Given the description of an element on the screen output the (x, y) to click on. 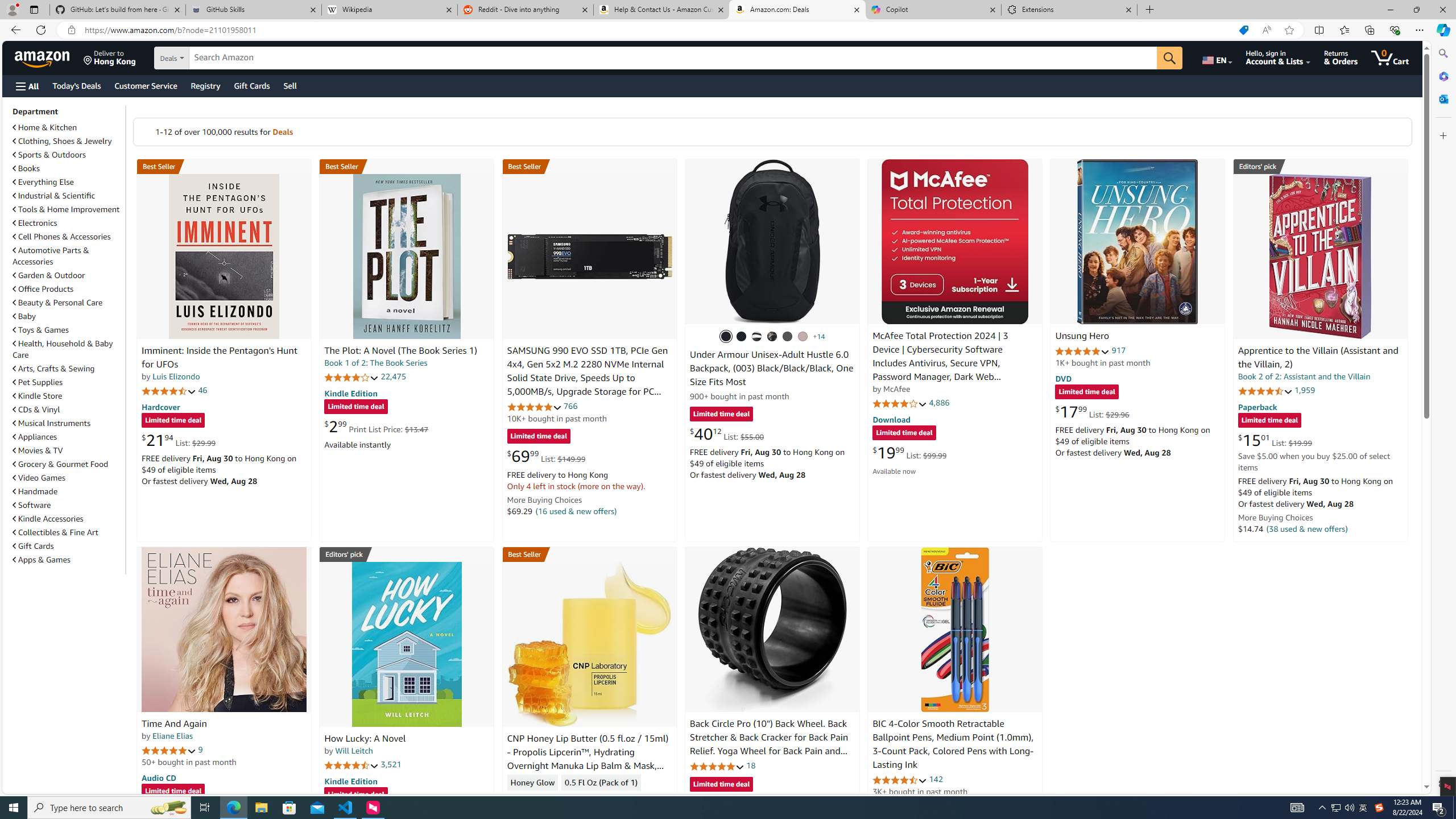
Time And Again (173, 723)
1,959 (1305, 390)
Everything Else (67, 181)
Arts, Crafts & Sewing (53, 368)
5.0 out of 5 stars (168, 750)
4.3 out of 5 stars (534, 799)
Health, Household & Baby Care (67, 348)
Go (1169, 57)
$17.99 List: $29.96 (1092, 411)
Gift Cards (33, 545)
Garden & Outdoor (67, 274)
